Given the description of an element on the screen output the (x, y) to click on. 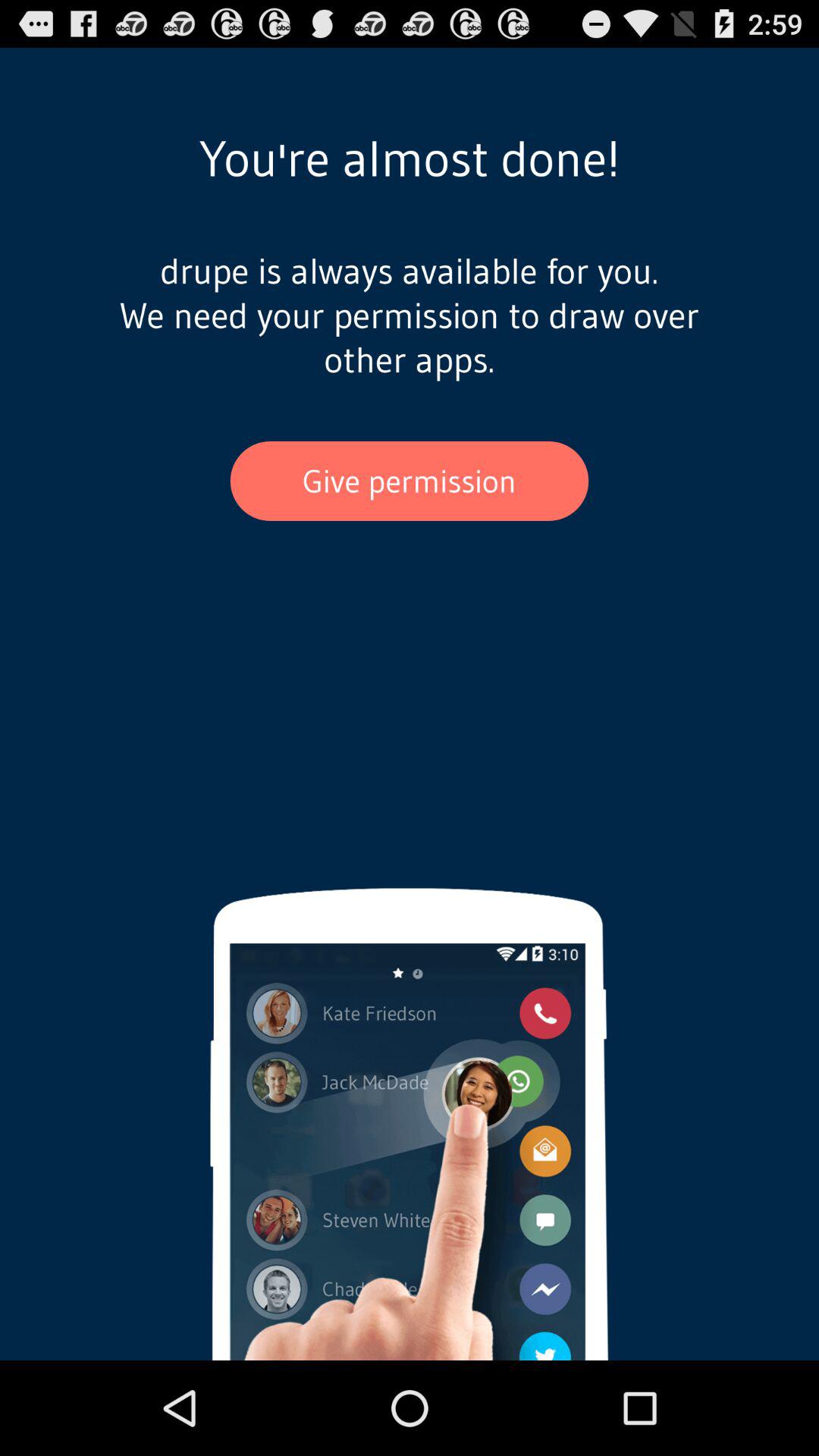
tap the give permission (409, 480)
